Given the description of an element on the screen output the (x, y) to click on. 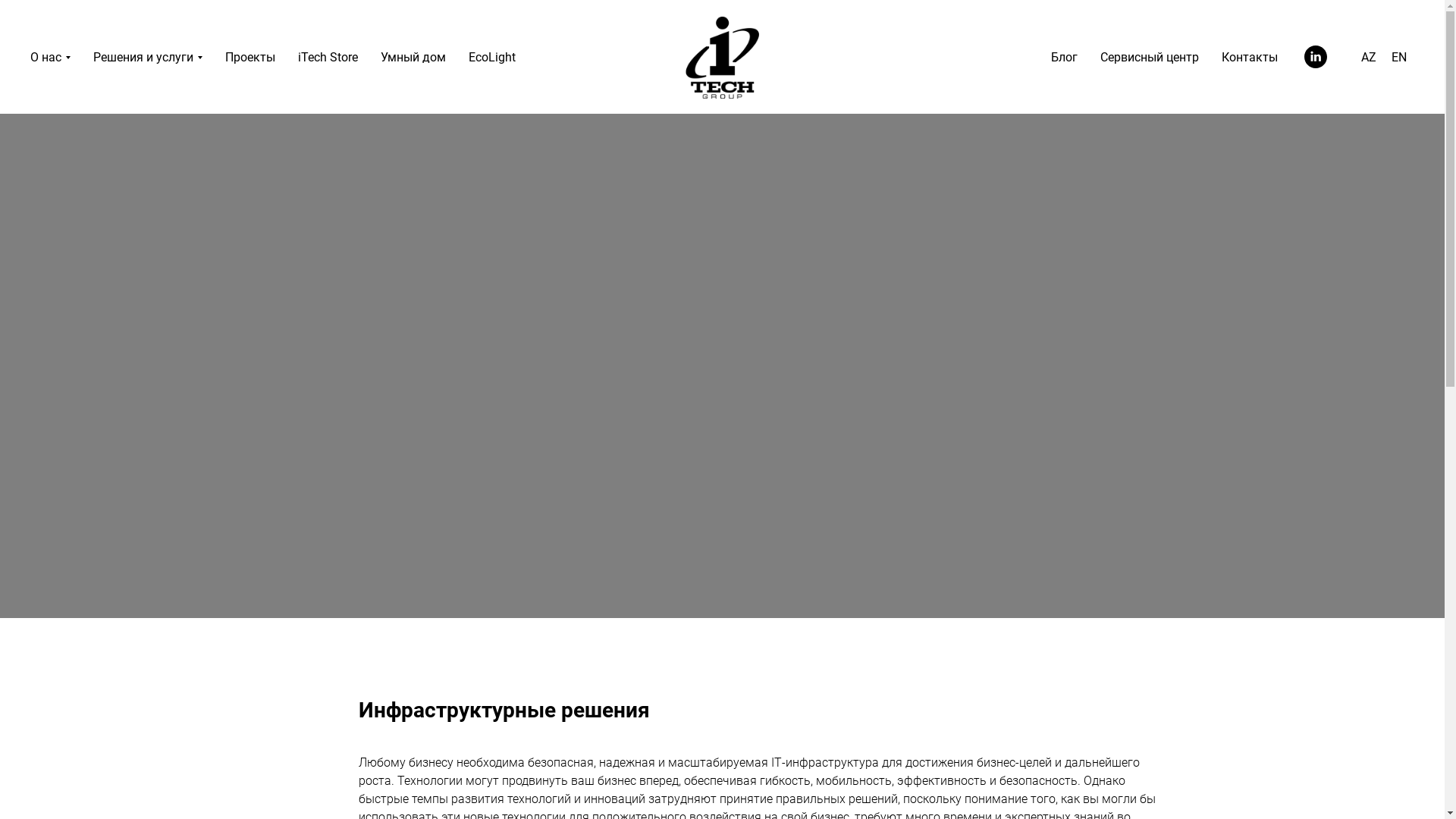
iTech Store Element type: text (327, 57)
AZ Element type: text (1368, 57)
EN Element type: text (1398, 57)
EcoLight Element type: text (491, 57)
